Given the description of an element on the screen output the (x, y) to click on. 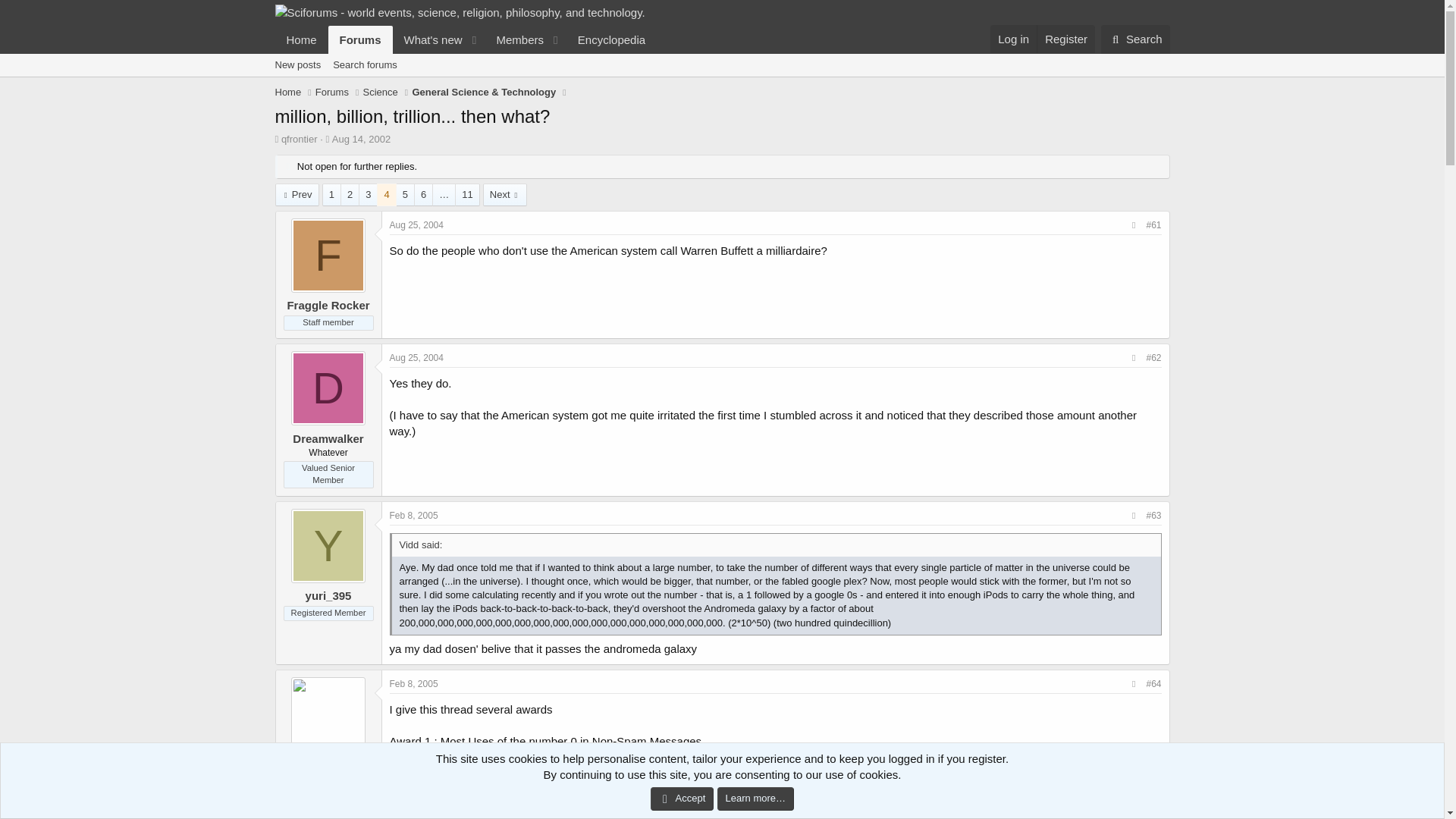
Search (1135, 39)
Forums (361, 39)
Forums (332, 92)
Go to page (443, 194)
Log in (464, 39)
Search forums (1013, 39)
Aug 25, 2004 at 12:05 AM (364, 65)
Aug 14, 2002 (417, 357)
Members (360, 138)
